Given the description of an element on the screen output the (x, y) to click on. 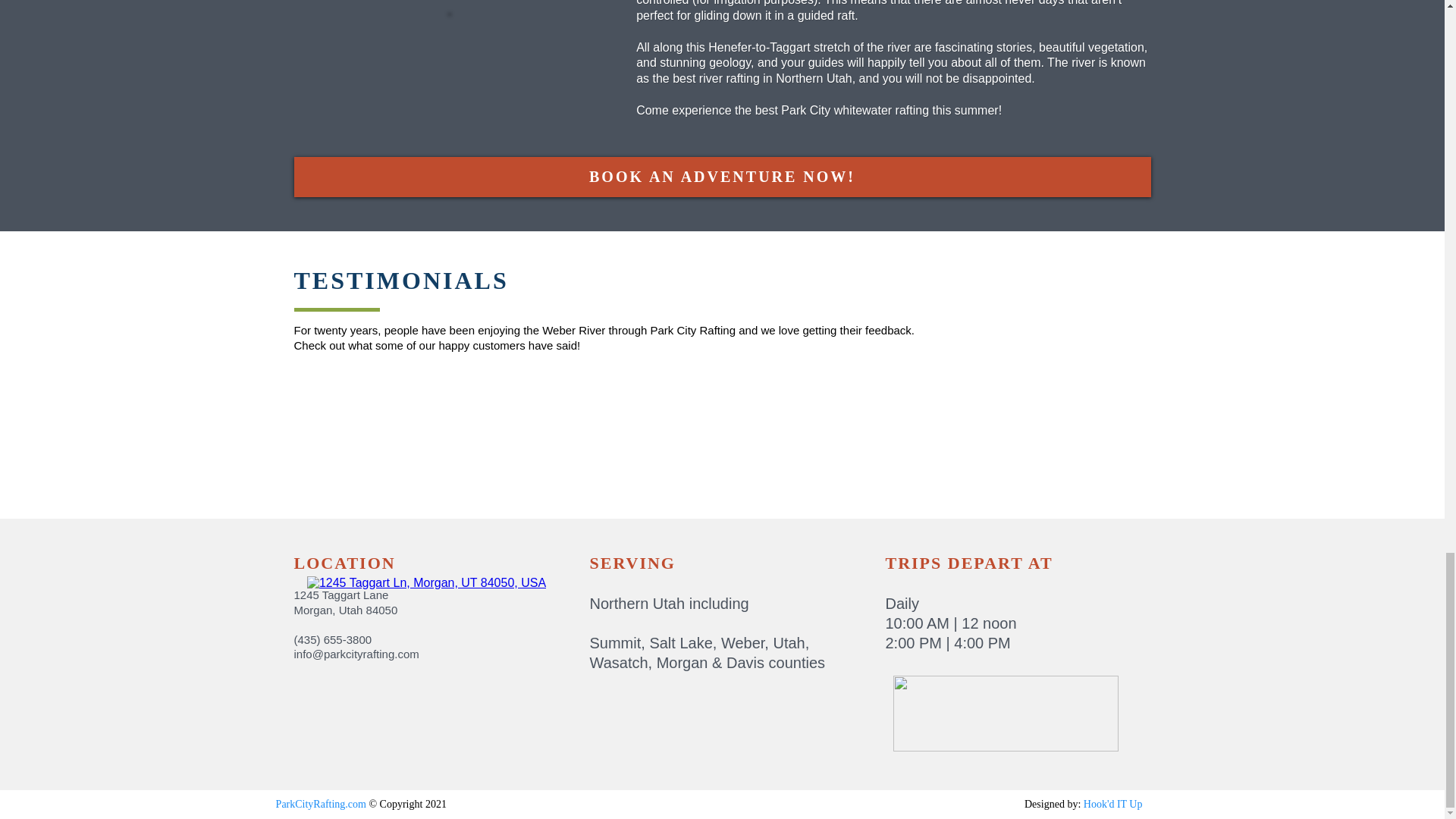
ParkCityRafting.com (321, 803)
Hook'd IT Up (1112, 803)
BOOK AN ADVENTURE NOW! (722, 177)
